Given the description of an element on the screen output the (x, y) to click on. 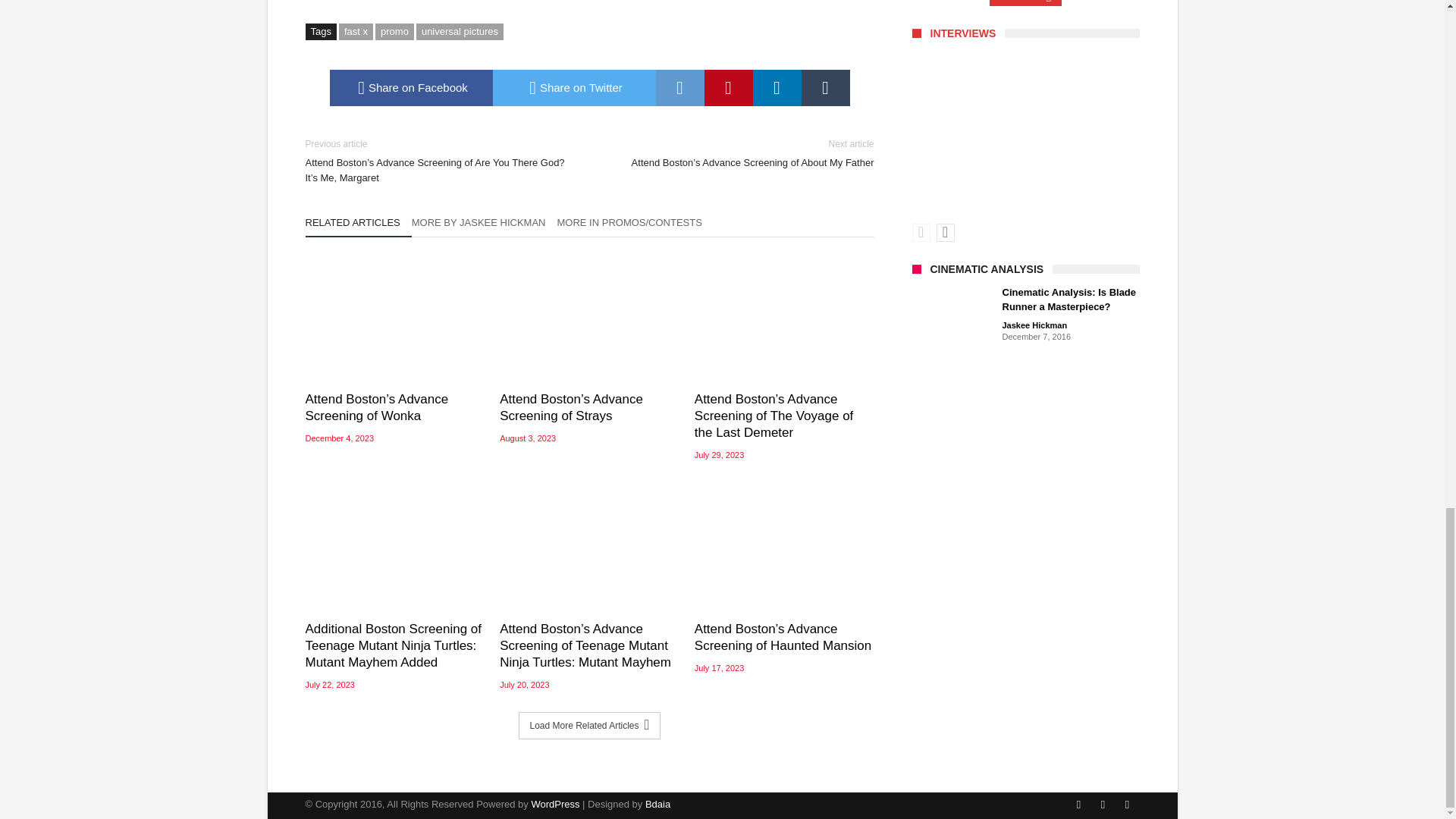
fast x (355, 31)
promo (394, 31)
universal pictures (459, 31)
